Given the description of an element on the screen output the (x, y) to click on. 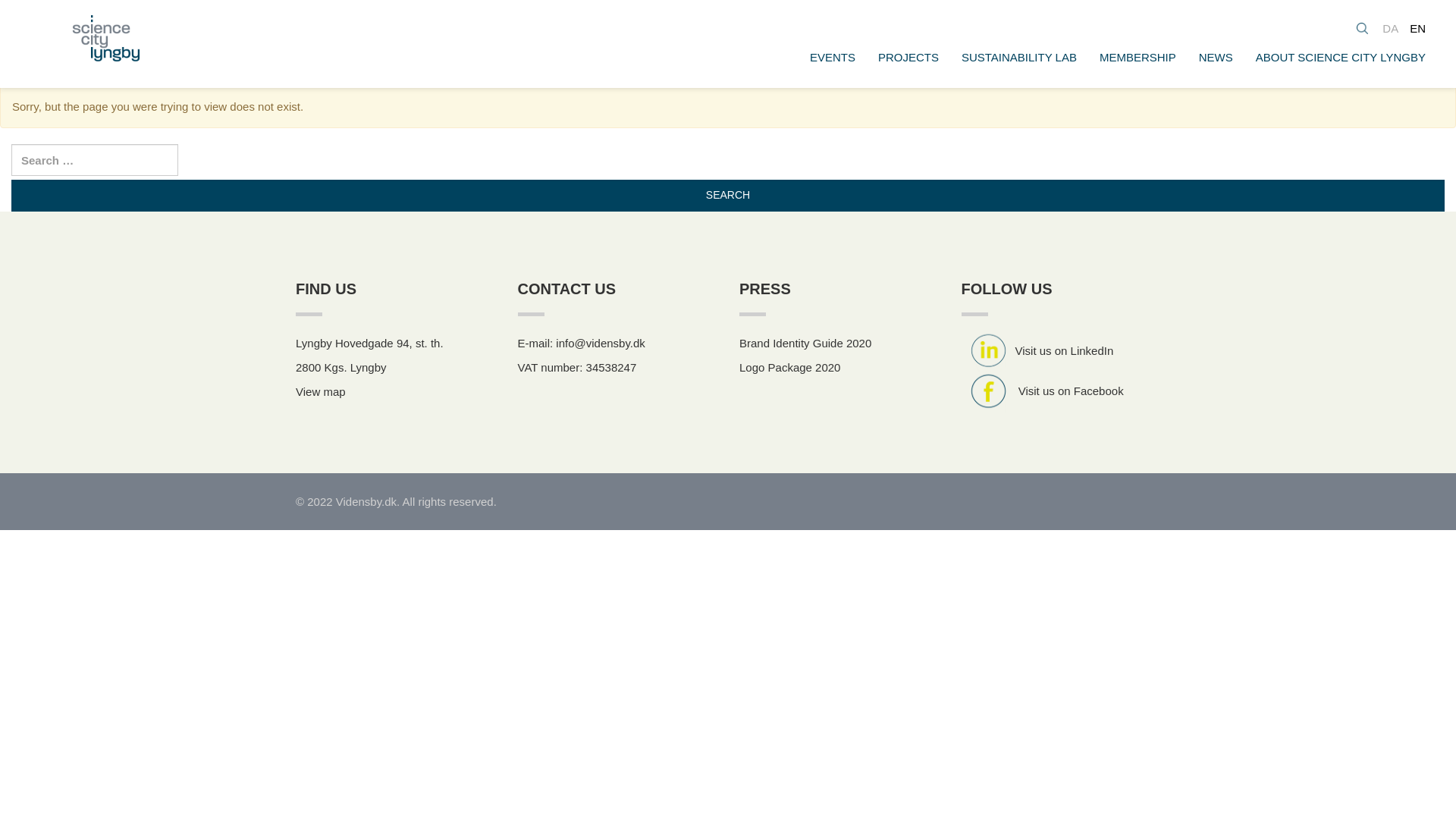
Brand Identity Guide 2020 (804, 342)
Logo Package 2020 (789, 367)
NEWS (1215, 57)
Search (727, 195)
Search (727, 195)
SUSTAINABILITY LAB (1018, 57)
Visit us on Facebook (1070, 390)
PROJECTS (908, 57)
Visit us on LinkedIn (1036, 350)
